Given the description of an element on the screen output the (x, y) to click on. 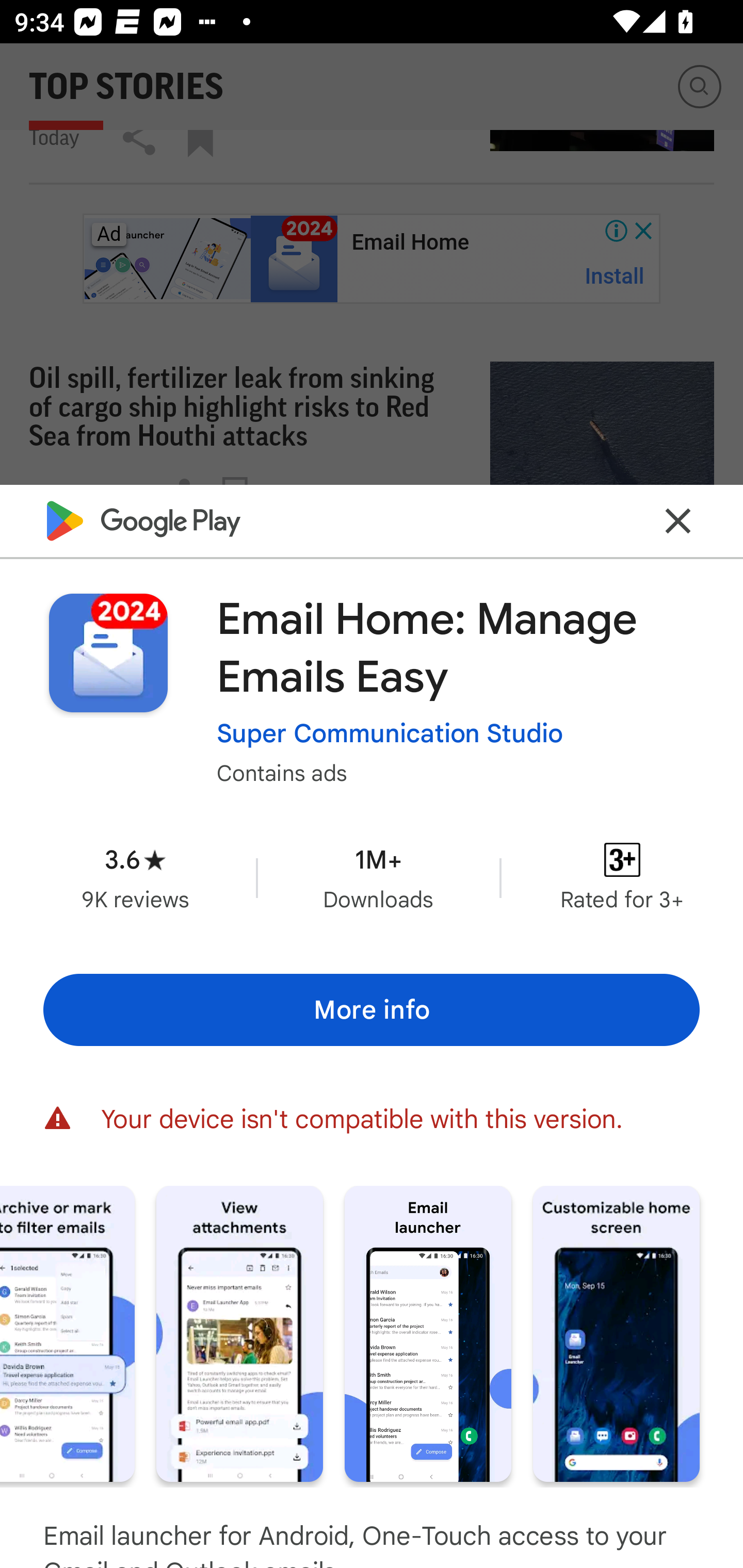
Close (677, 520)
Super Communication Studio (389, 732)
More info (371, 1009)
Screenshot "3" of "6" (67, 1333)
Screenshot "4" of "6" (239, 1333)
Screenshot "5" of "6" (427, 1333)
Screenshot "6" of "6" (615, 1333)
